Given the description of an element on the screen output the (x, y) to click on. 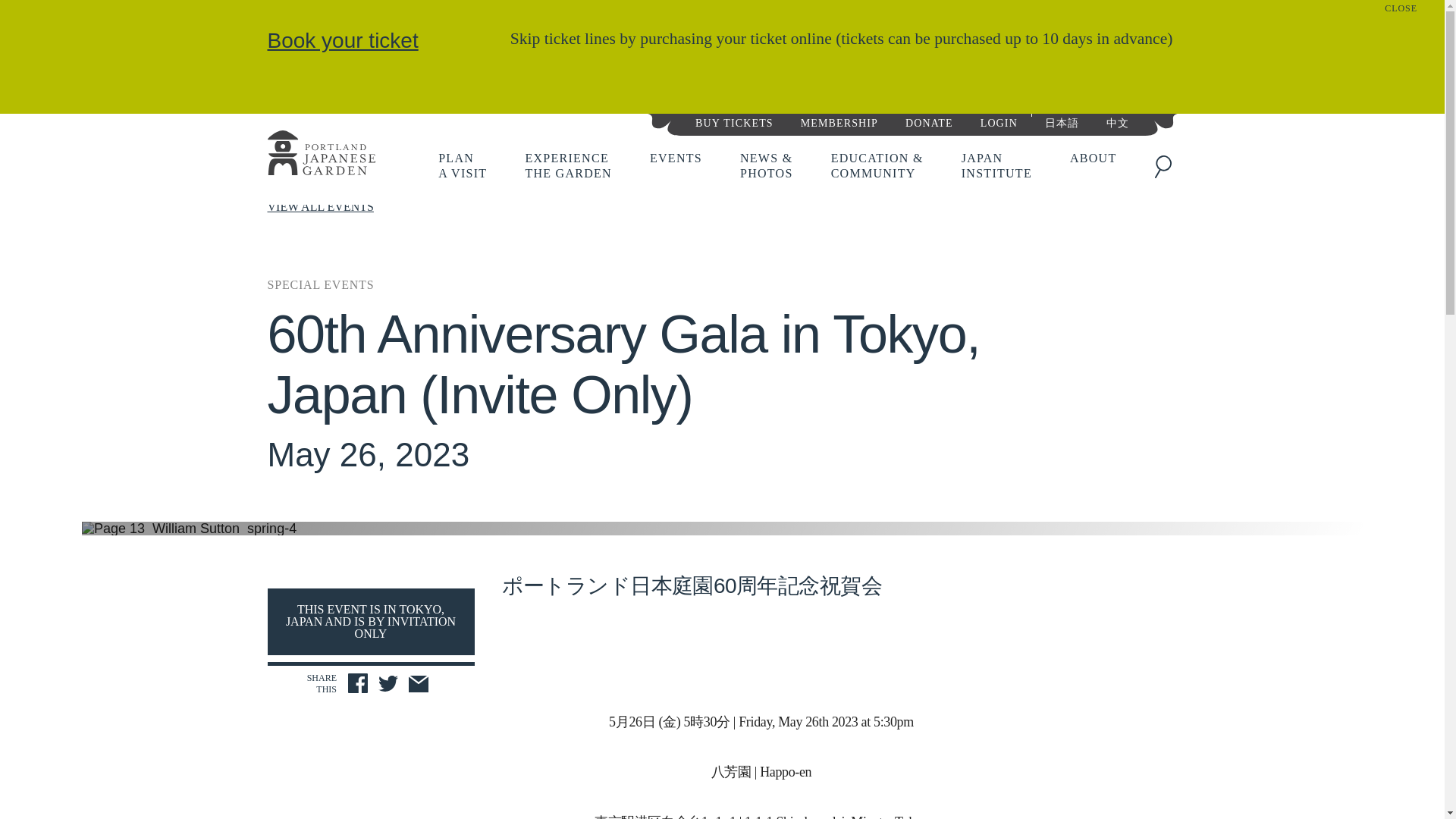
DONATE (928, 120)
BUY TICKETS (734, 120)
Portland Japanese Garden (320, 155)
Click to share on Facebook (357, 682)
Book your ticket (341, 40)
Click to share on Twitter (387, 685)
Click to email a link to a friend (567, 165)
LOGIN (418, 685)
MEMBERSHIP (462, 165)
